Given the description of an element on the screen output the (x, y) to click on. 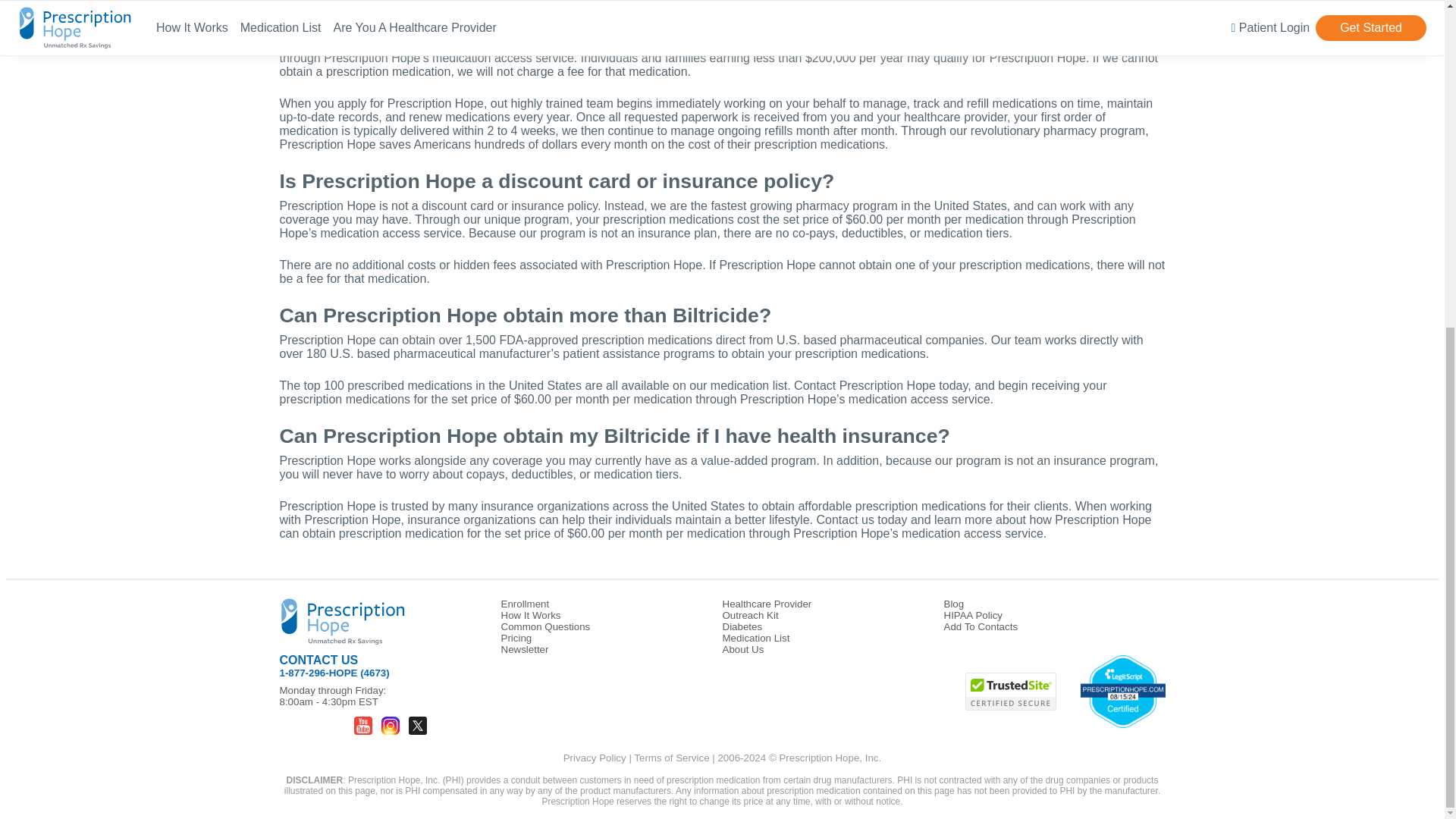
Enrollment (524, 603)
Terms of Service (671, 757)
Blog (953, 603)
Privacy Policy (594, 757)
TrustedSite Certified (1009, 691)
Verify LegitScript Approval (1122, 692)
Healthcare Provider (766, 603)
HIPAA Policy (973, 614)
How It Works (530, 614)
Medication List (755, 637)
